Given the description of an element on the screen output the (x, y) to click on. 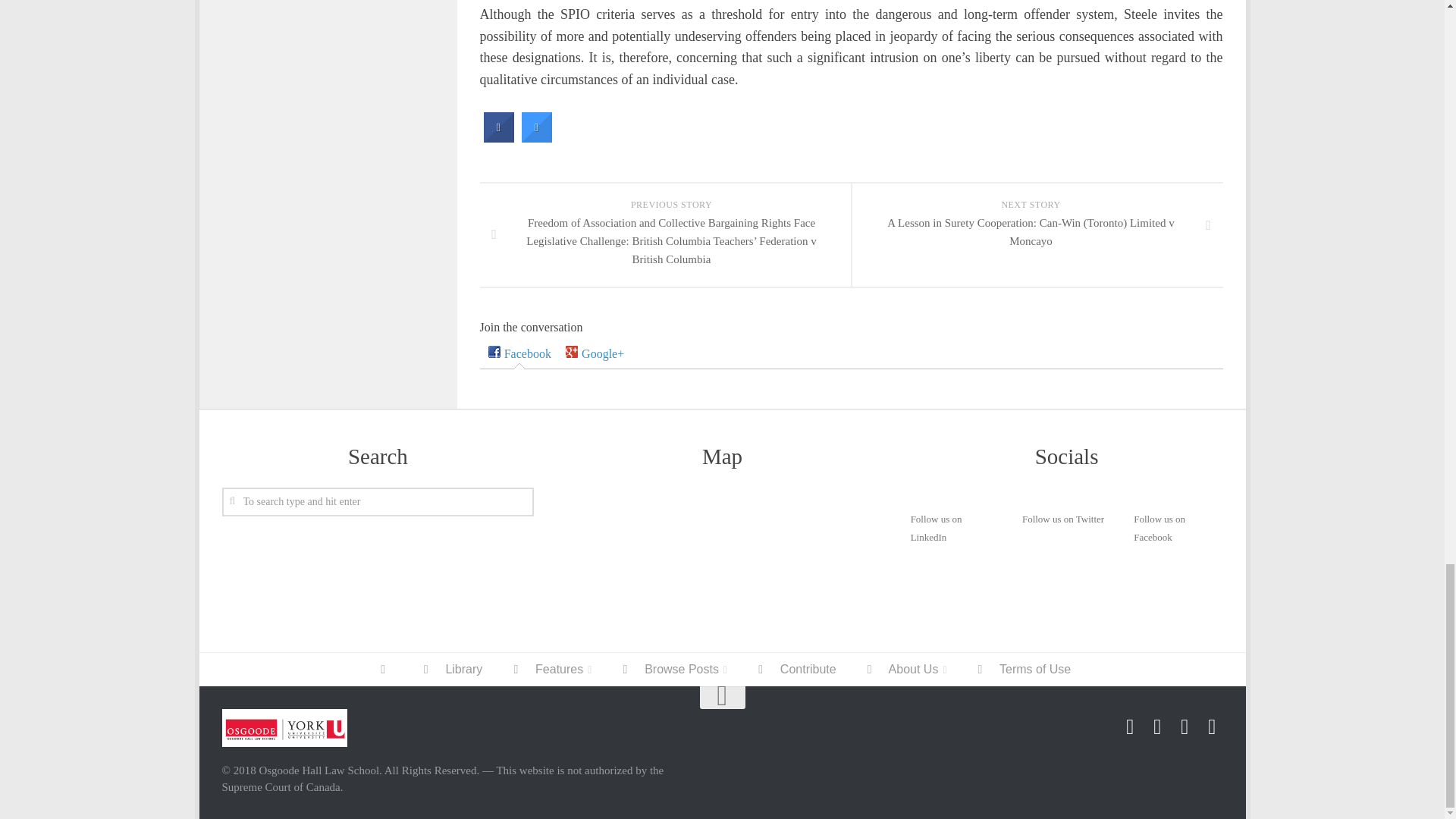
Share on Facebook (498, 137)
YouTube (1212, 726)
Facebook (519, 353)
Twitter (1157, 726)
Facebook (1129, 726)
To search type and hit enter (377, 501)
To search type and hit enter (377, 501)
Share on Twitter (536, 137)
